Given the description of an element on the screen output the (x, y) to click on. 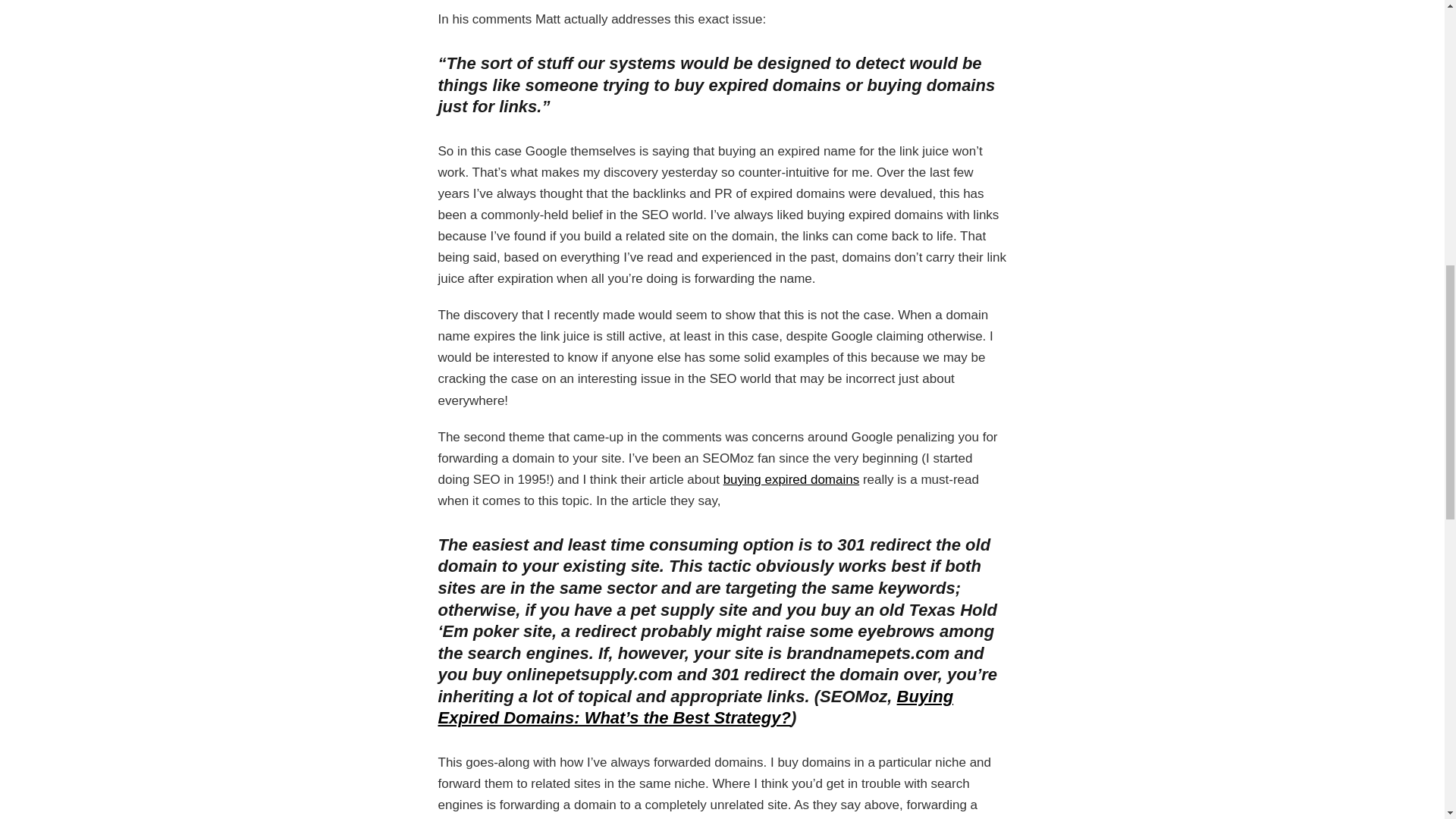
buying expired domains (791, 479)
